Given the description of an element on the screen output the (x, y) to click on. 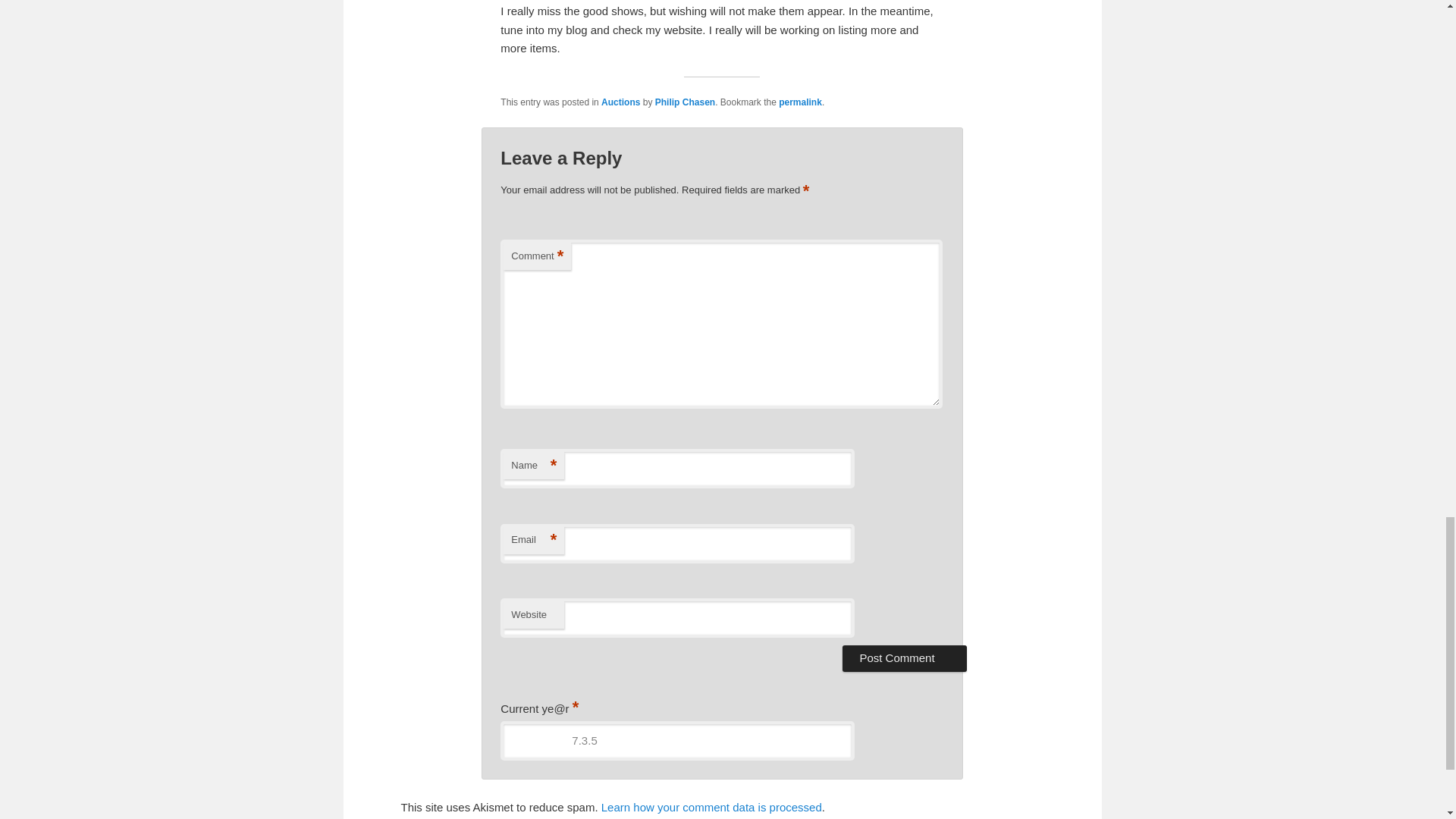
Post Comment (904, 657)
Learn how your comment data is processed (711, 807)
Auctions (620, 102)
Philip Chasen (684, 102)
permalink (800, 102)
Permalink to What will happen to antique shows? (800, 102)
Post Comment (904, 657)
7.3.5 (676, 740)
